Given the description of an element on the screen output the (x, y) to click on. 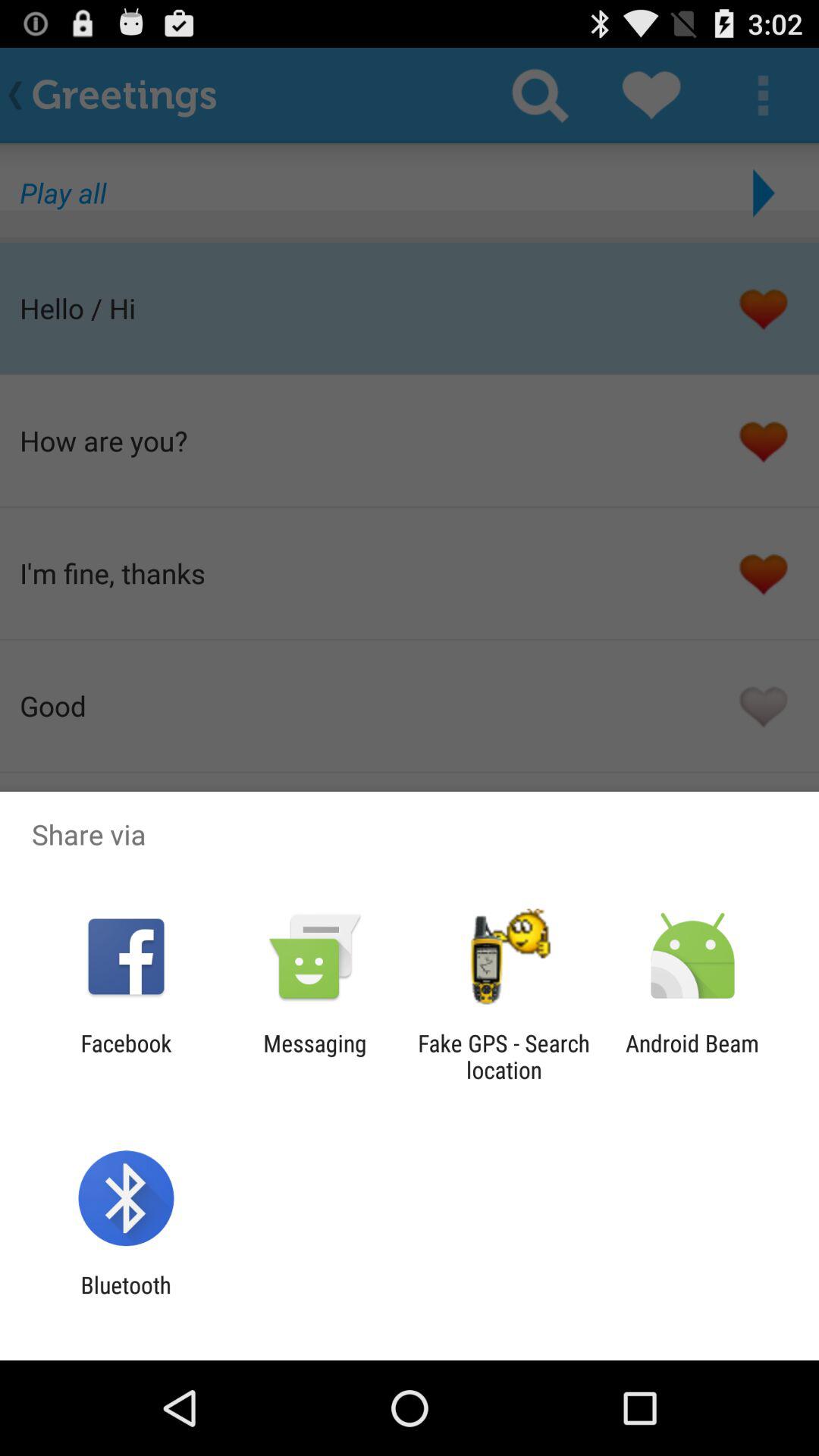
select messaging app (314, 1056)
